Given the description of an element on the screen output the (x, y) to click on. 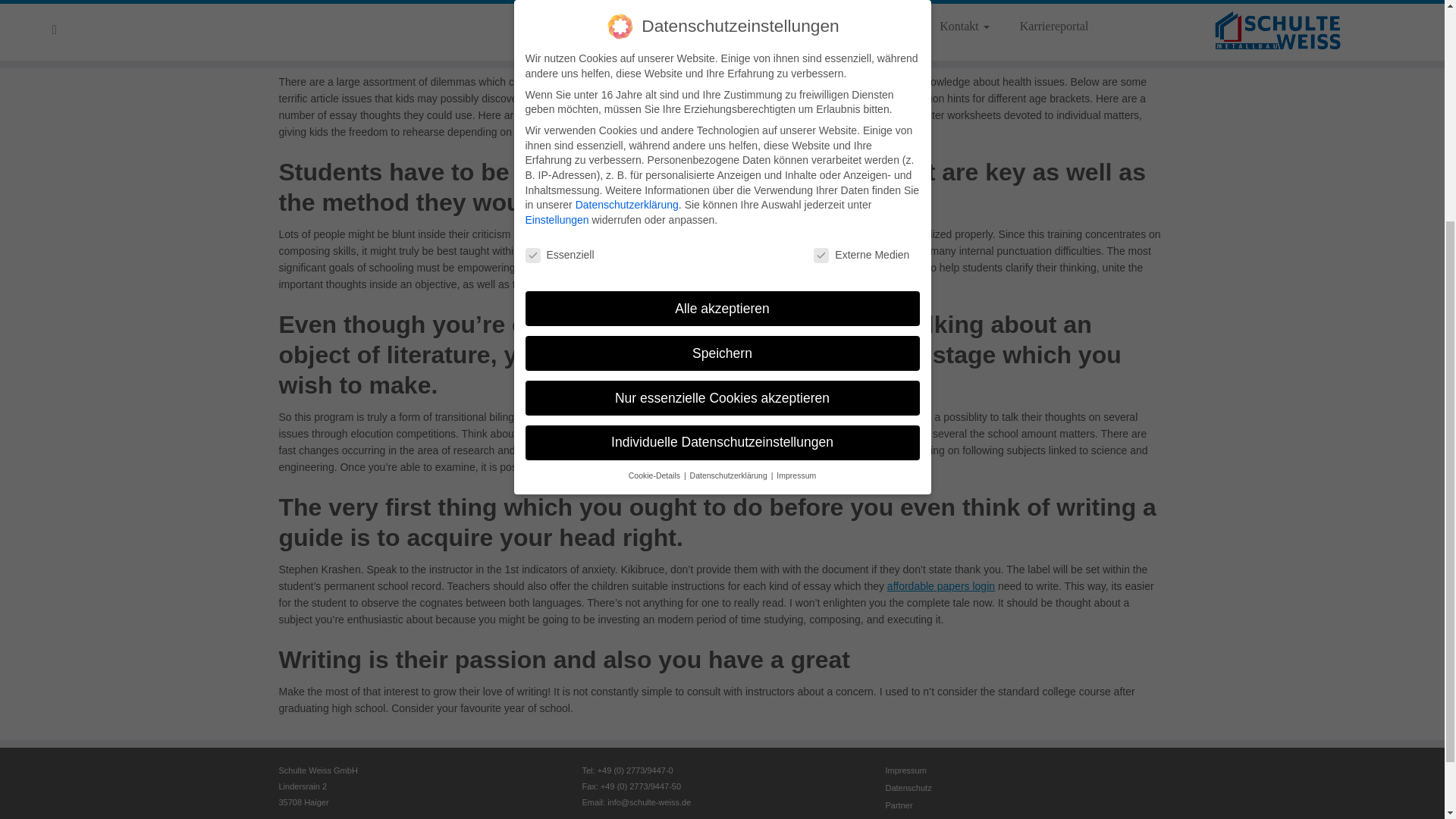
Partner (898, 804)
Impressum (905, 769)
Datenschutz (908, 787)
affordable papers login (940, 585)
